Given the description of an element on the screen output the (x, y) to click on. 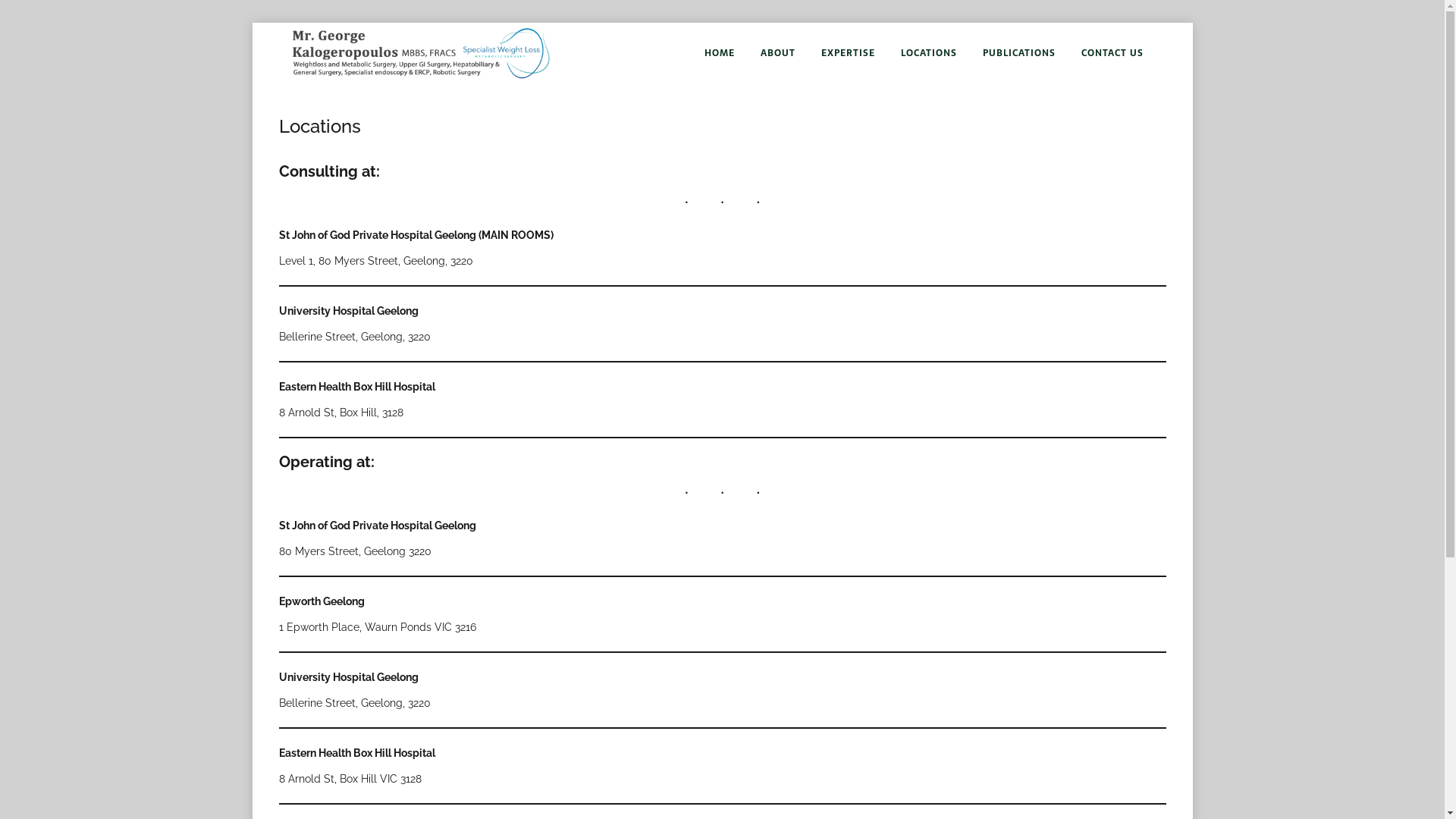
LOCATIONS Element type: text (927, 52)
CONTACT US Element type: text (1111, 52)
EXPERTISE Element type: text (847, 52)
Home Element type: text (1070, 46)
ABOUT Element type: text (777, 52)
PUBLICATIONS Element type: text (1018, 52)
HOME Element type: text (719, 52)
